Given the description of an element on the screen output the (x, y) to click on. 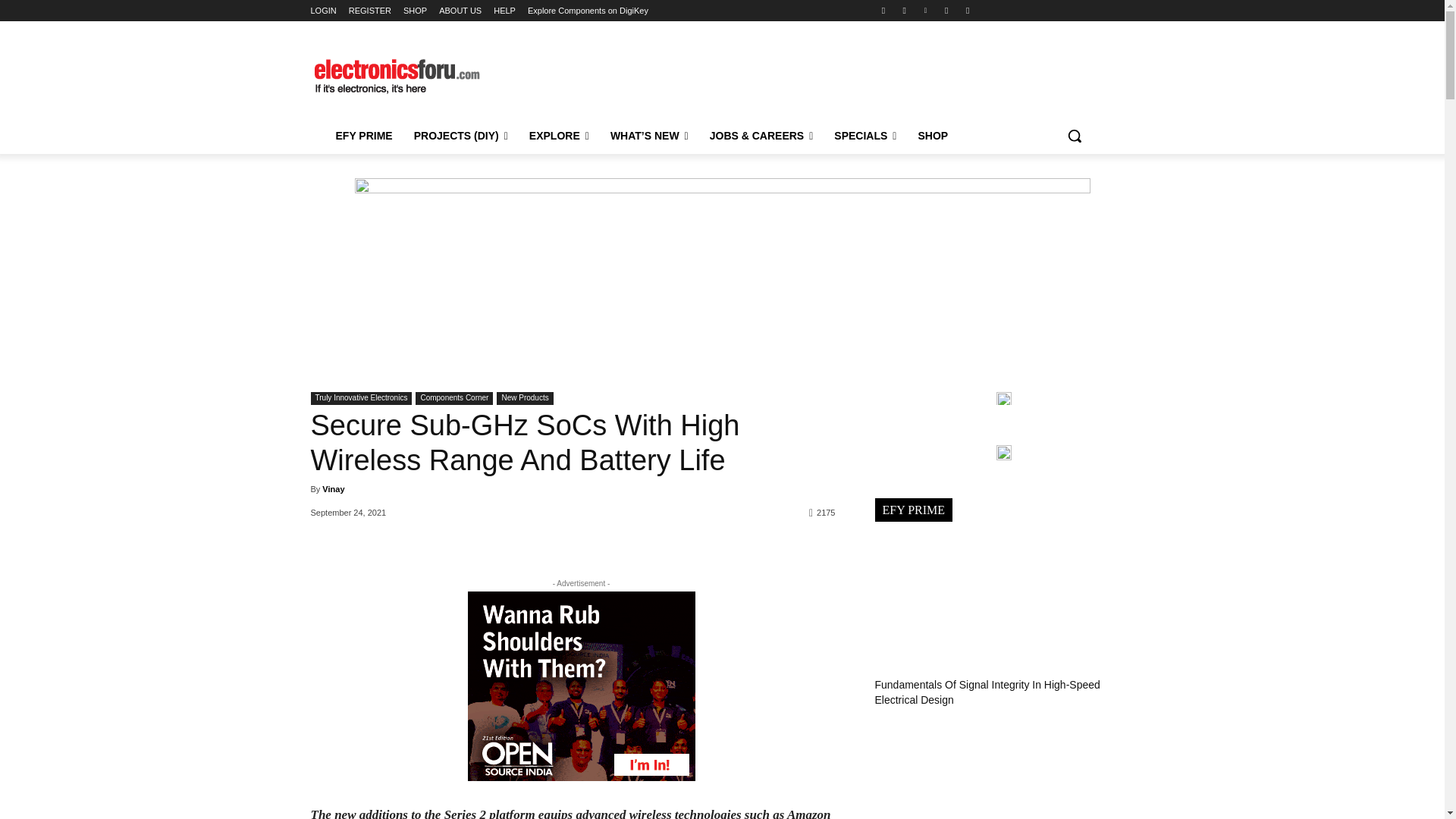
Youtube (967, 9)
Facebook (883, 9)
Twitter (946, 9)
Linkedin (925, 9)
Instagram (903, 9)
